Given the description of an element on the screen output the (x, y) to click on. 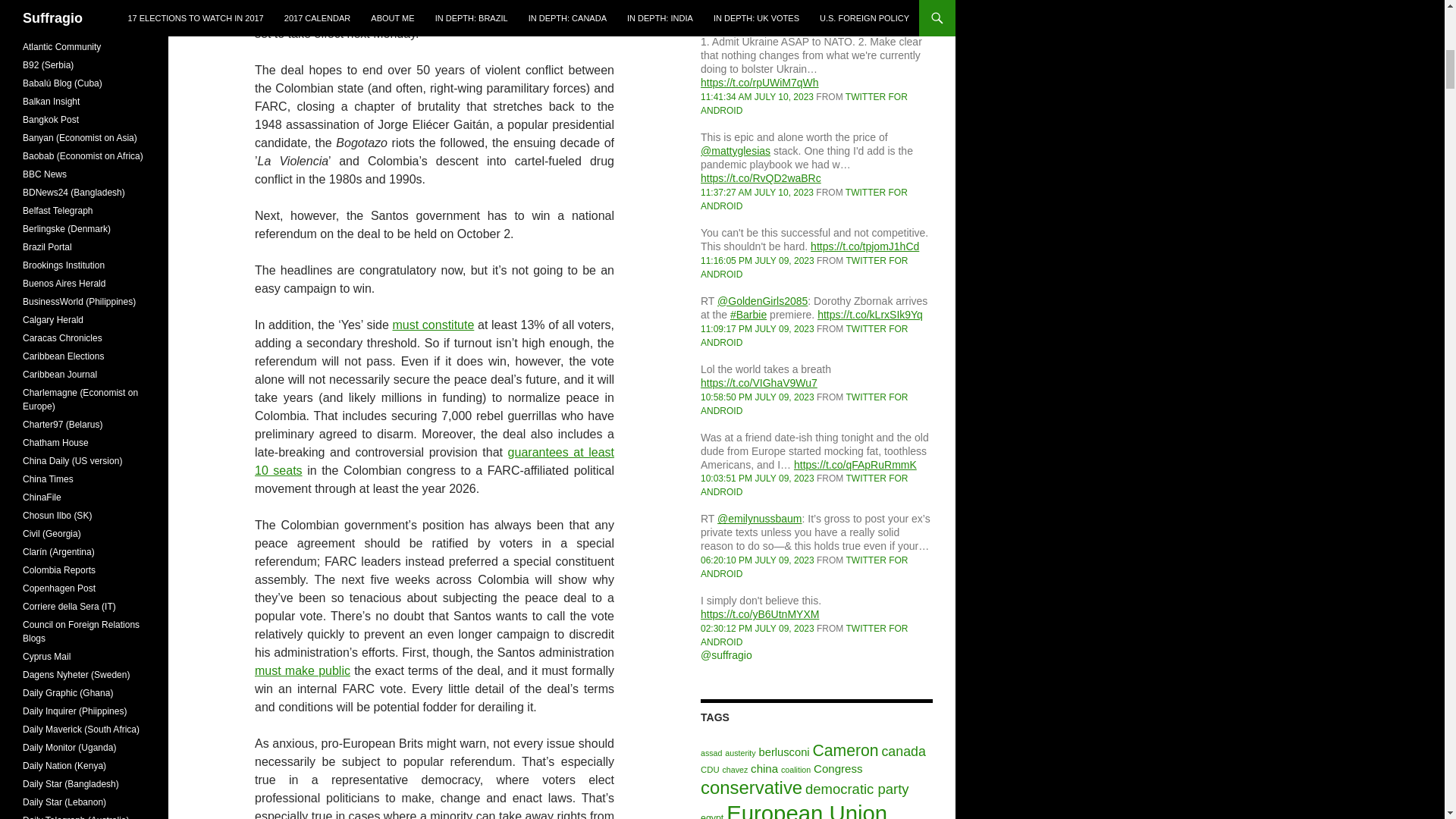
2014 general election (458, 2)
must constitute (432, 324)
must make public (302, 670)
guarantees at least 10 seats (434, 460)
